Given the description of an element on the screen output the (x, y) to click on. 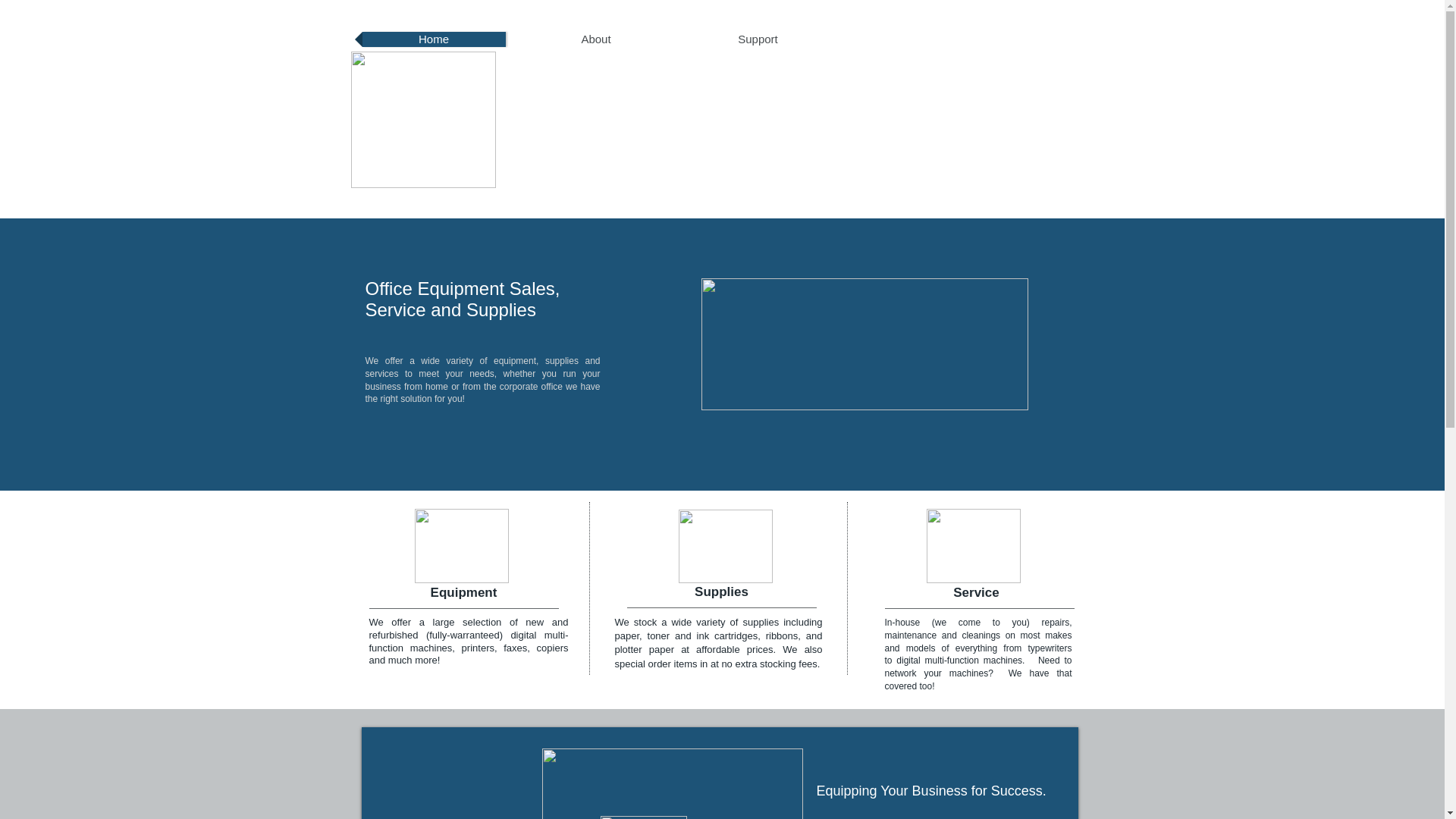
Home (434, 38)
About (595, 38)
LogoBlackAndWhiteNoText.jpeg (643, 817)
Support (758, 38)
